Given the description of an element on the screen output the (x, y) to click on. 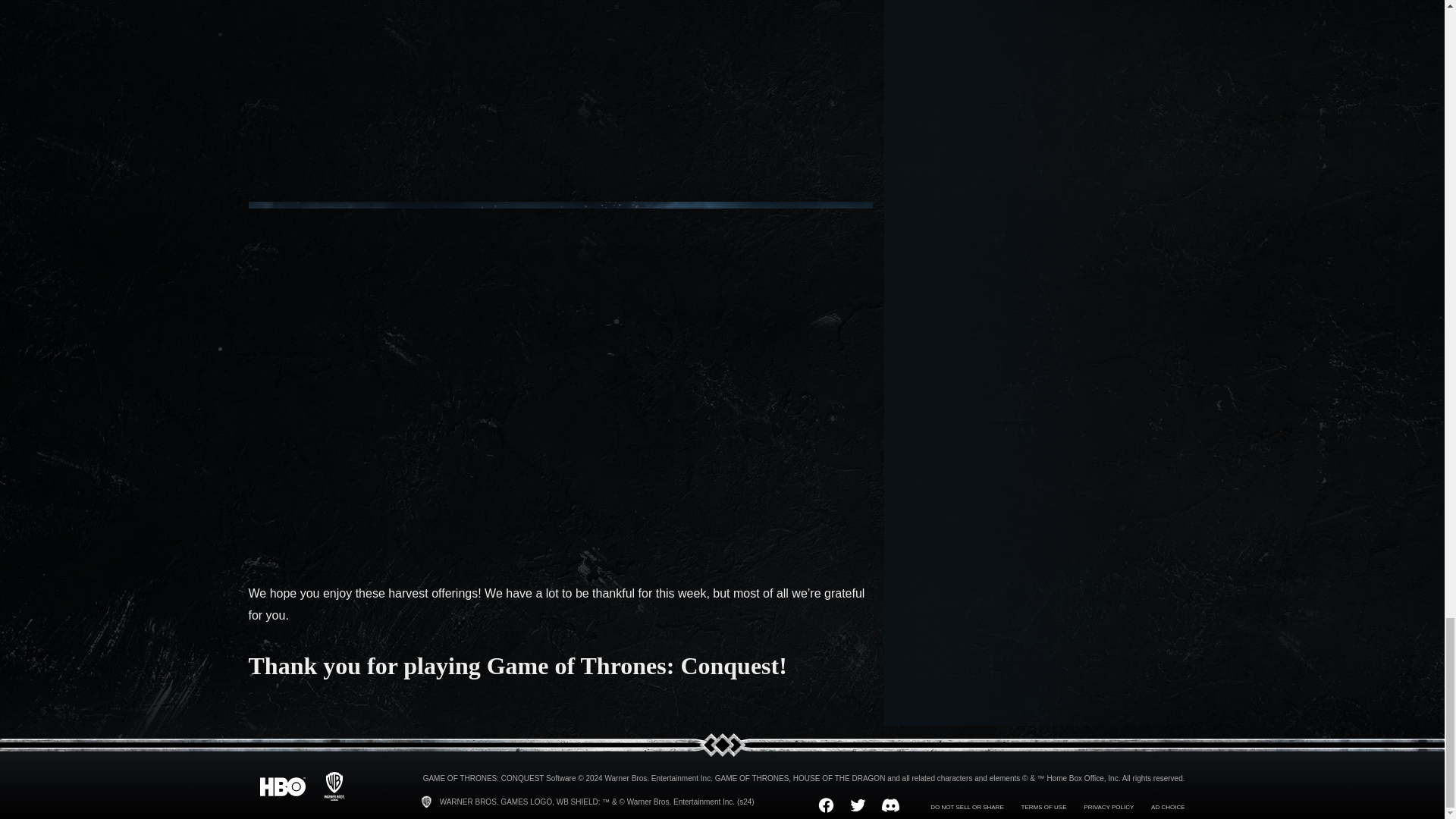
TERMS OF USE (1044, 806)
PRIVACY POLICY (1108, 806)
DO NOT SELL OR SHARE (966, 806)
AD CHOICE (1168, 806)
